Given the description of an element on the screen output the (x, y) to click on. 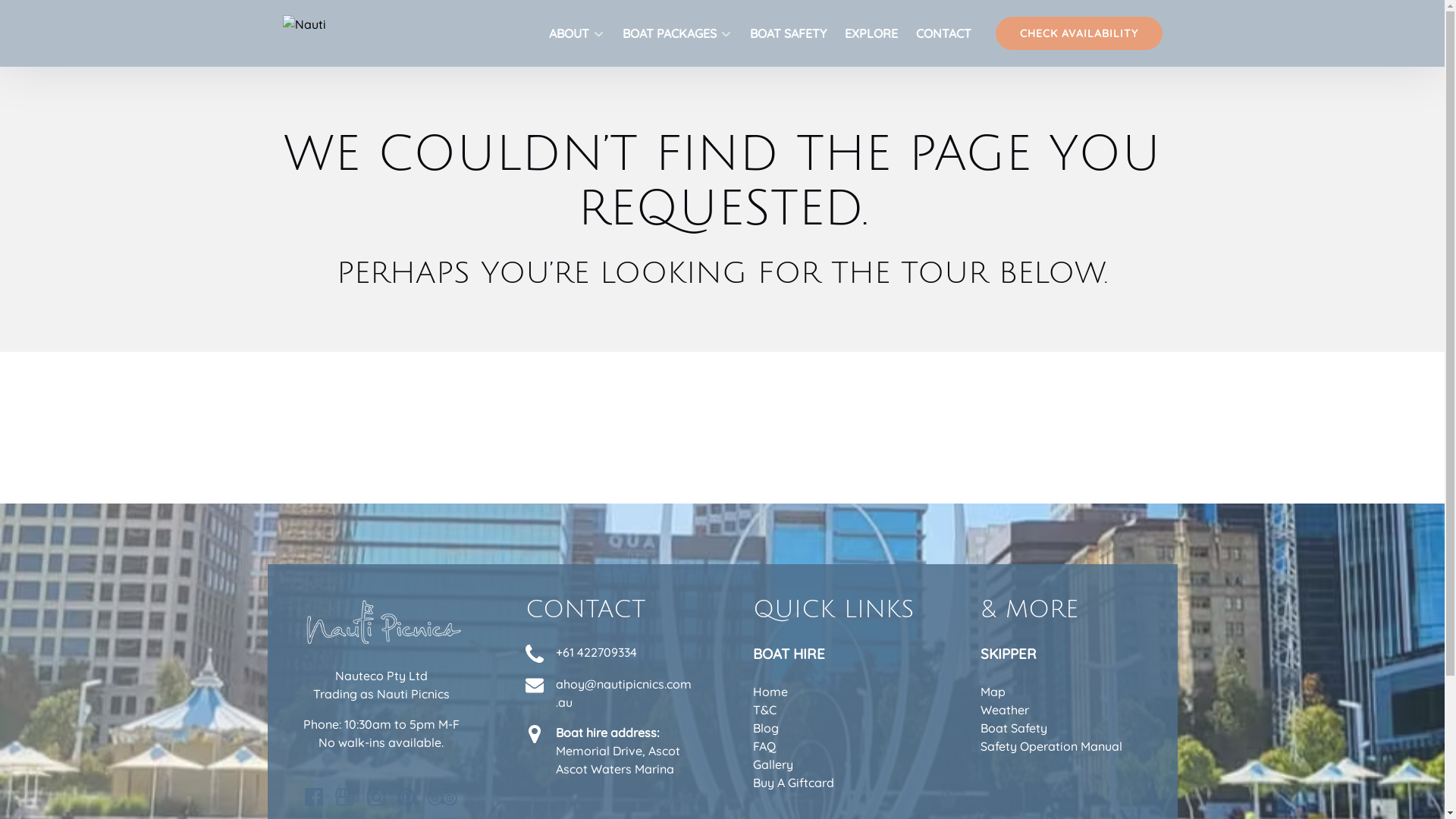
T&C Element type: text (763, 709)
Gallery Element type: text (772, 763)
EXPLORE Element type: text (870, 33)
Click here to visit our Facebook Element type: hover (313, 796)
Skip to footer Element type: text (45, 16)
Skip to primary navigation Element type: text (83, 16)
Click here to visit our Google My Business Profile Element type: hover (344, 796)
Boat Safety Element type: text (1012, 727)
Memorial Drive, Ascot
Ascot Waters Marina Element type: text (617, 759)
CHECK AVAILABILITY Element type: text (1077, 33)
Weather Element type: text (1003, 709)
ABOUT Element type: text (576, 33)
Blog Element type: text (765, 727)
FAQ Element type: text (763, 745)
Click here to visit our Pinterest Element type: hover (406, 796)
BOAT PACKAGES Element type: text (676, 33)
Skip to content Element type: text (50, 16)
Map Element type: text (991, 691)
Home Element type: text (769, 691)
Envelope
ahoy@nautipicnics.com.au Element type: text (607, 692)
Click here to visit our TripAdvisor Element type: hover (442, 796)
Click here to visit our Instagram Element type: hover (376, 796)
Safety Operation Manual Element type: text (1050, 745)
BOAT SAFETY Element type: text (787, 33)
Buy A Giftcard Element type: text (792, 782)
Phone
+61 422709334 Element type: text (607, 652)
NautiPicnics_WordOutlined_WHITE Element type: hover (380, 621)
CONTACT Element type: text (943, 33)
